Given the description of an element on the screen output the (x, y) to click on. 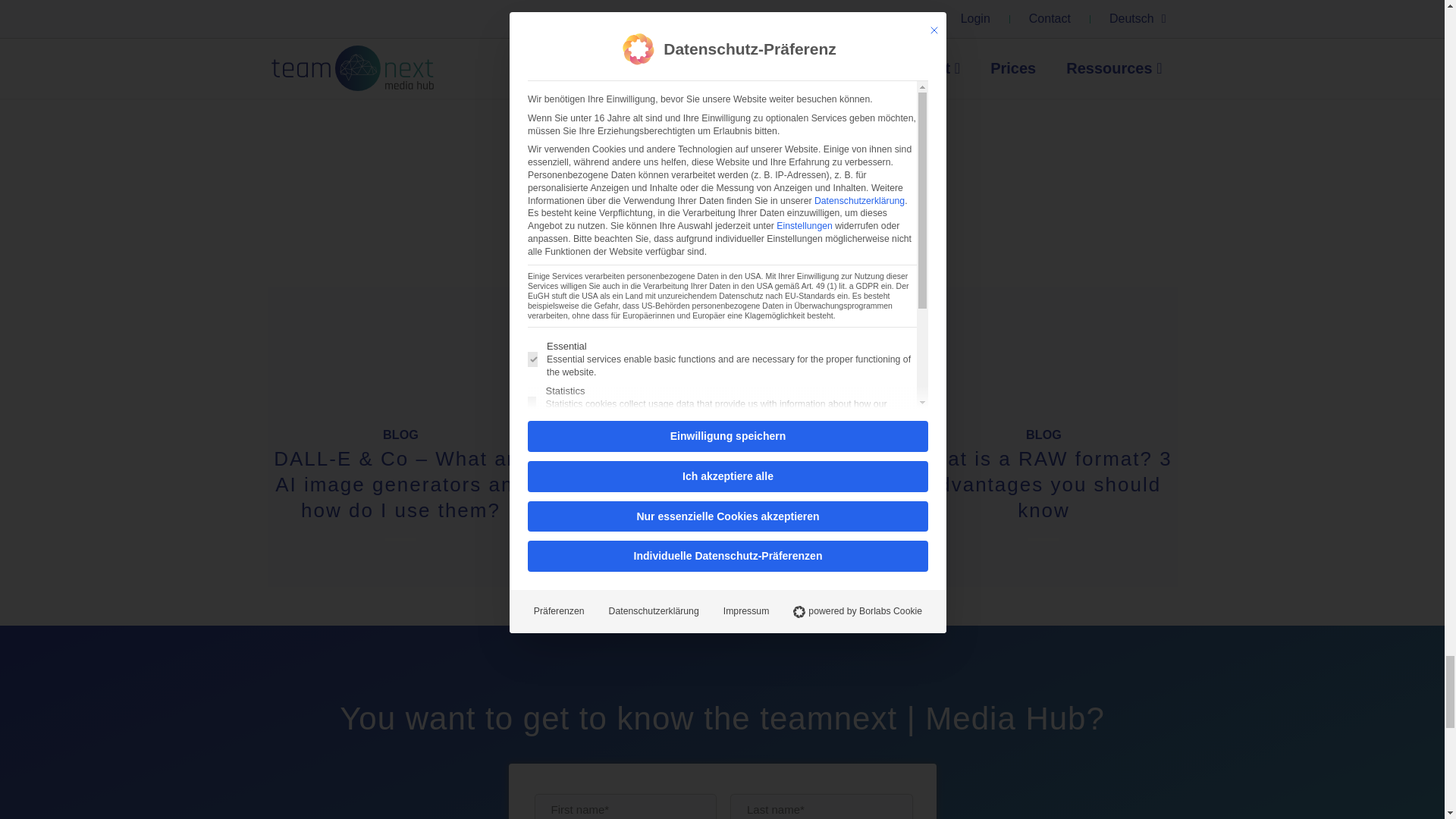
What are digital media? 4 categories to know (722, 471)
What is a RAW format? 3 advantages you should know (1043, 484)
What is a RAW format? 3 advantages you should know (1043, 346)
What are digital media? 4 categories to know (722, 346)
